Given the description of an element on the screen output the (x, y) to click on. 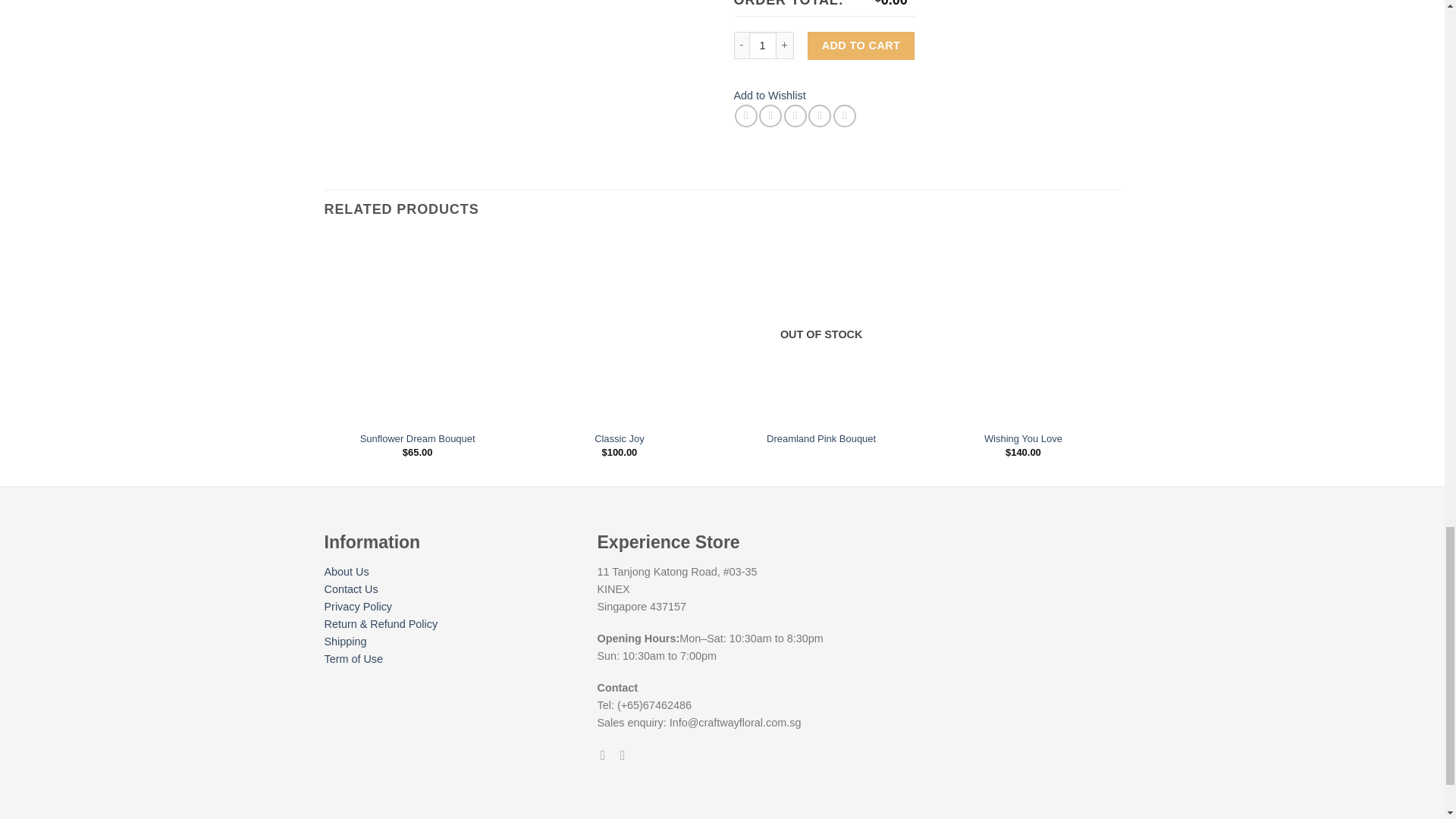
1 (762, 44)
Share on Facebook (746, 115)
Share on Twitter (769, 115)
Email to a Friend (795, 115)
Pin on Pinterest (819, 115)
Share on LinkedIn (844, 115)
Qty (762, 44)
